Given the description of an element on the screen output the (x, y) to click on. 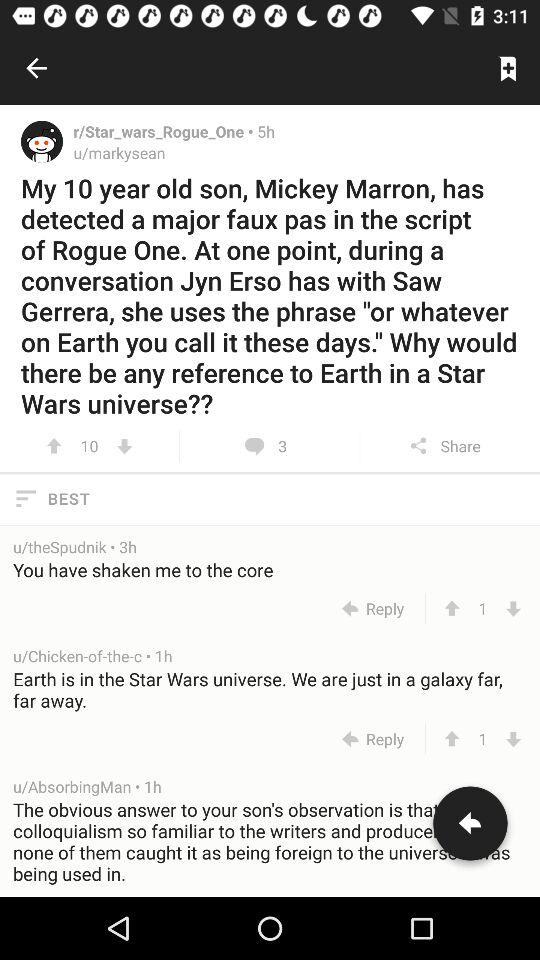
tap the obvious answer (271, 846)
